Given the description of an element on the screen output the (x, y) to click on. 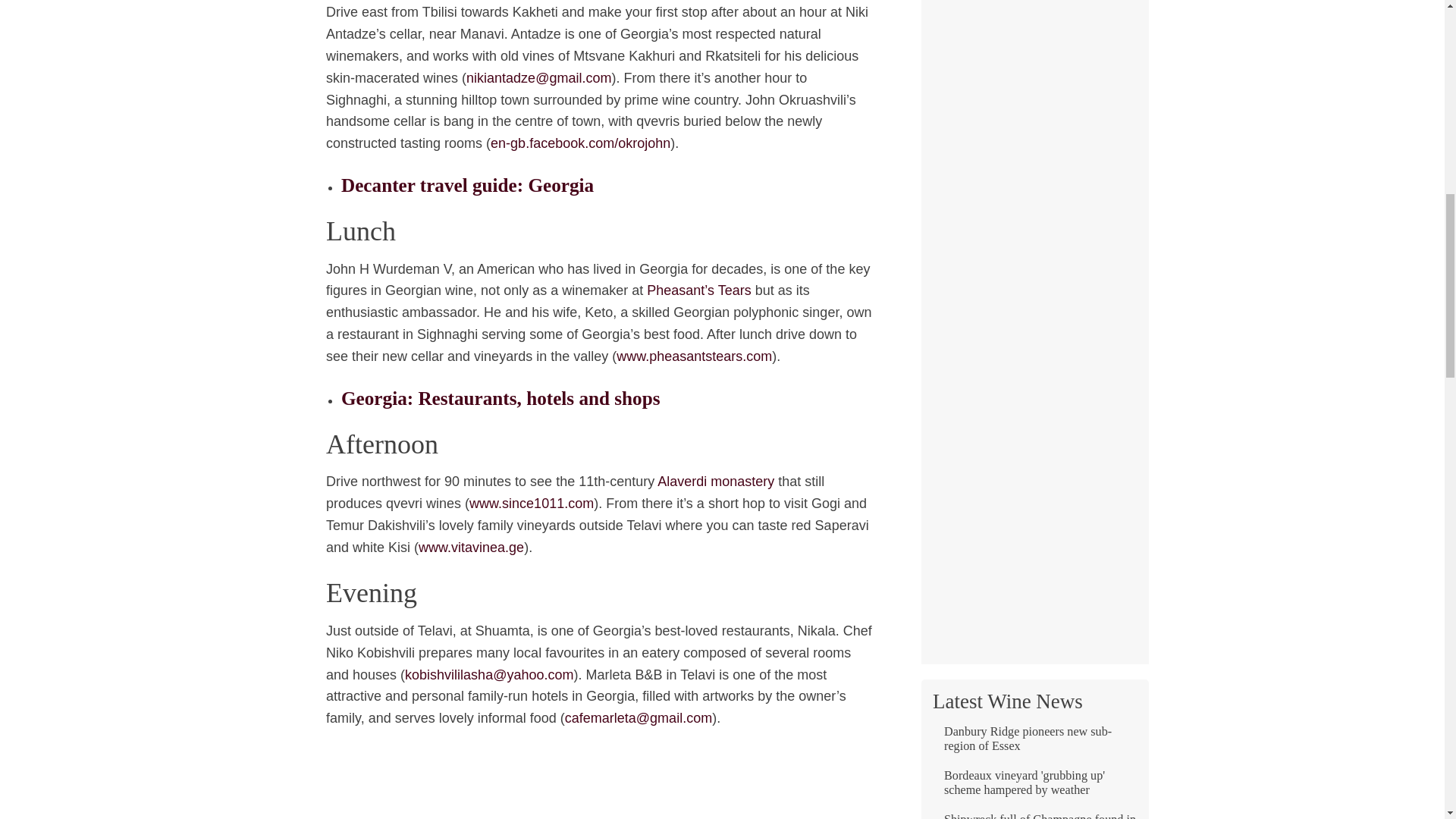
Shipwreck full of Champagne found in Baltic Sea (1035, 816)
Danbury Ridge pioneers new sub-region of Essex (1035, 744)
Bordeaux vineyard 'grubbing up' scheme hampered by weather (1035, 789)
